Given the description of an element on the screen output the (x, y) to click on. 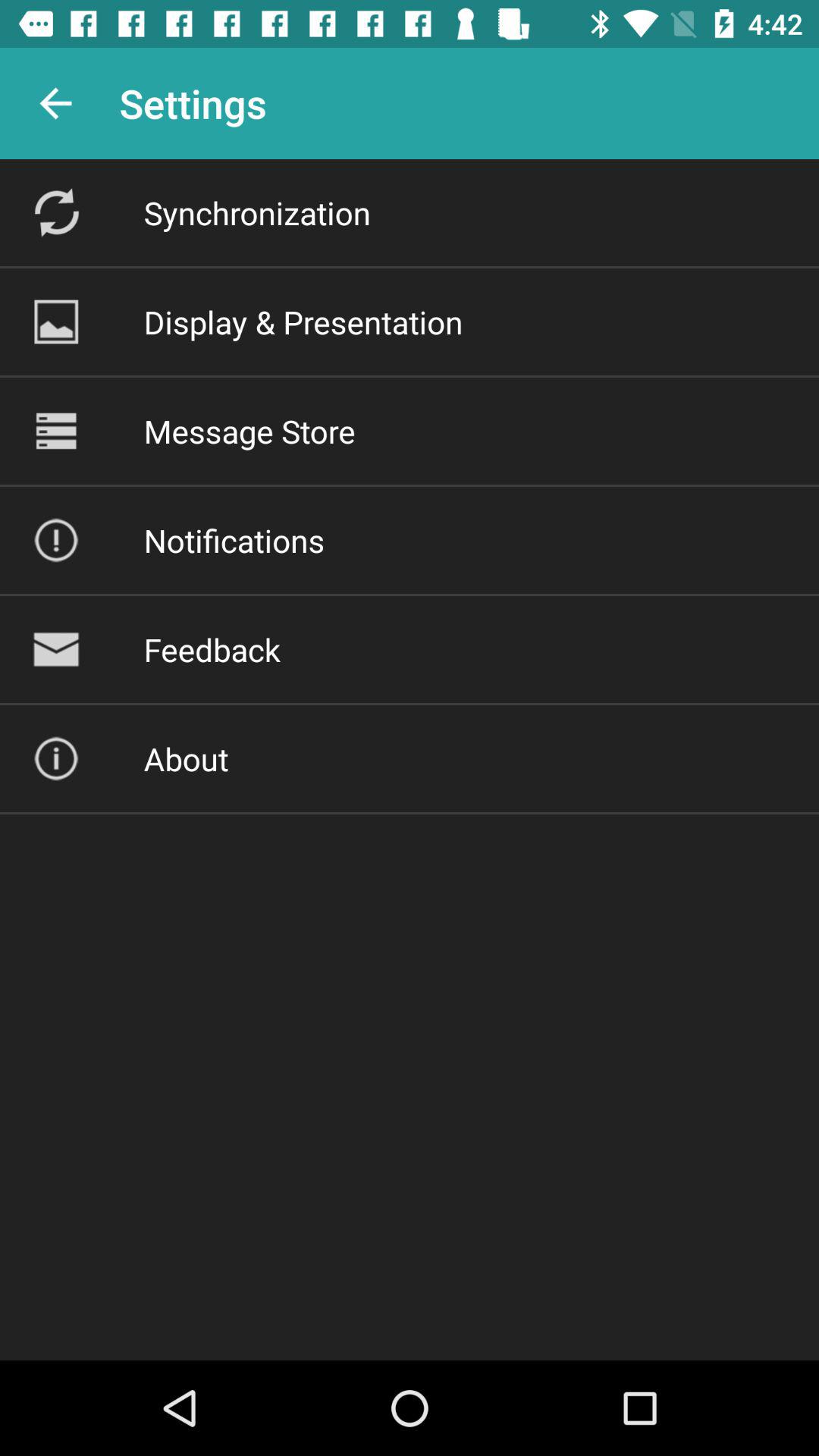
open icon next to settings (55, 103)
